Given the description of an element on the screen output the (x, y) to click on. 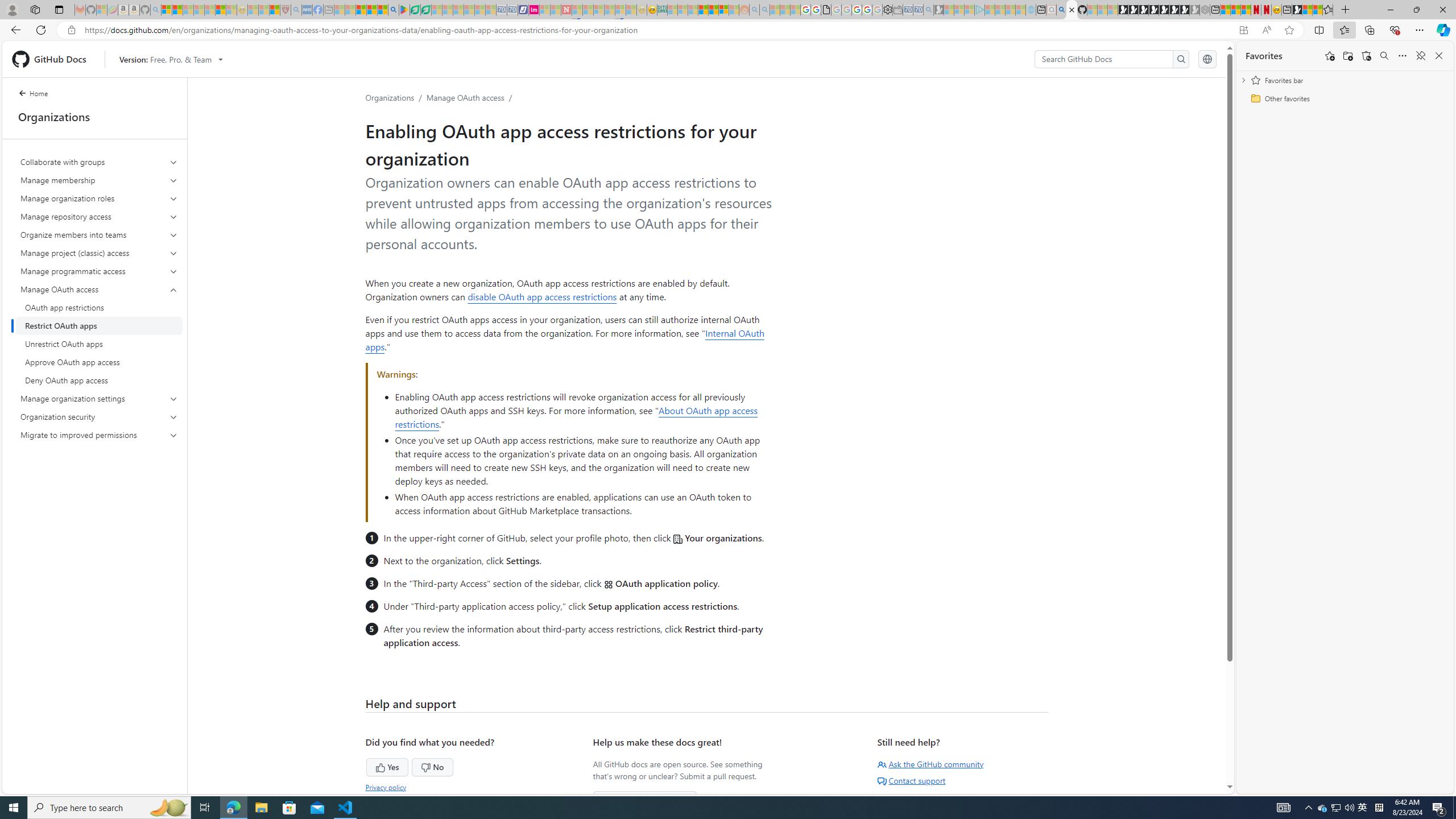
Contact support (911, 780)
Expert Portfolios (703, 9)
Manage organization roles (99, 198)
14 Common Myths Debunked By Scientific Facts - Sleeping (588, 9)
Unpin favorites (1420, 55)
Terms of Use Agreement (414, 9)
Manage programmatic access (99, 271)
Manage project (classic) access (99, 253)
MSNBC - MSN - Sleeping (672, 9)
OAuth app restrictions (99, 307)
